Given the description of an element on the screen output the (x, y) to click on. 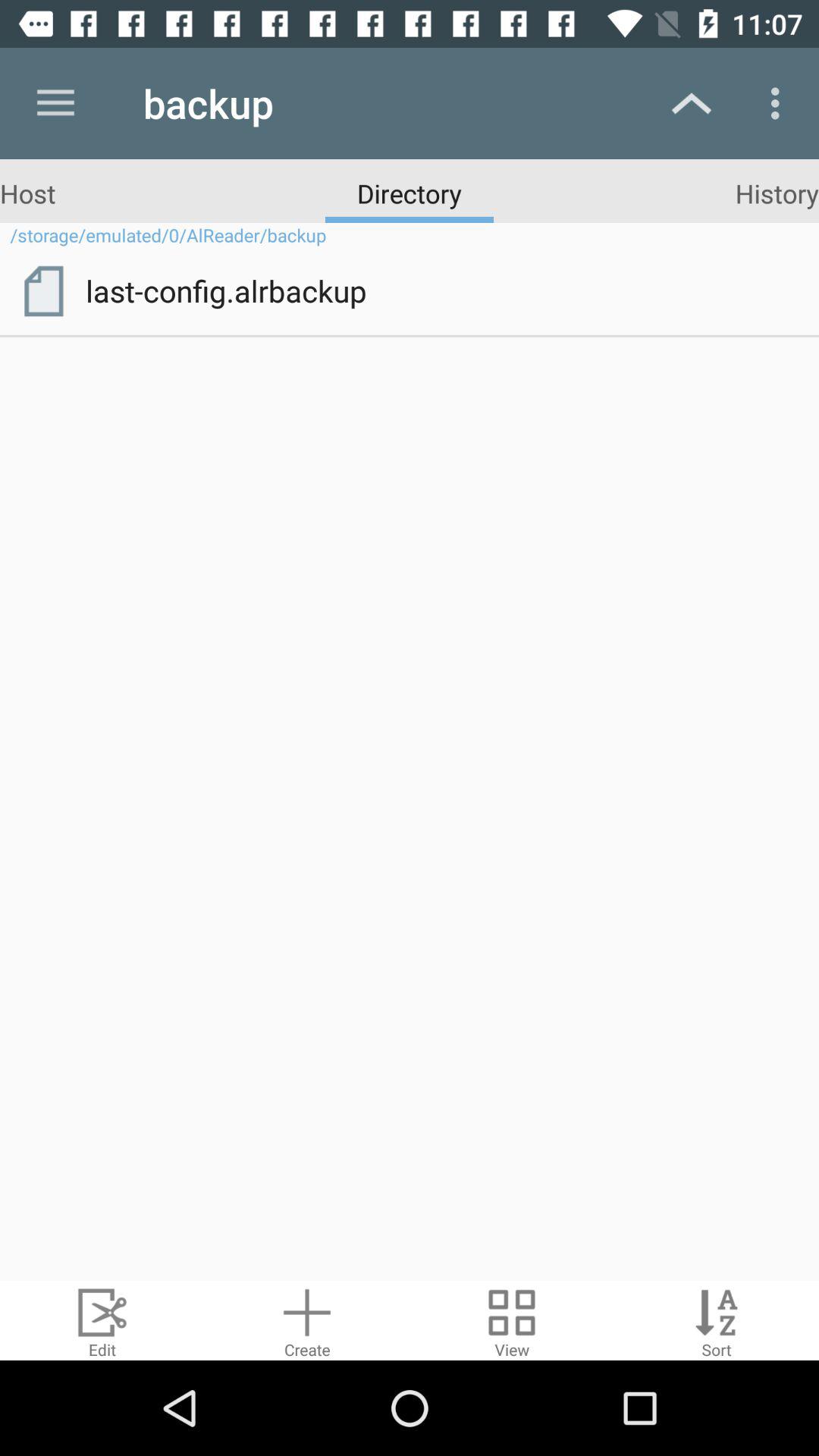
tap the item above the history (779, 103)
